Given the description of an element on the screen output the (x, y) to click on. 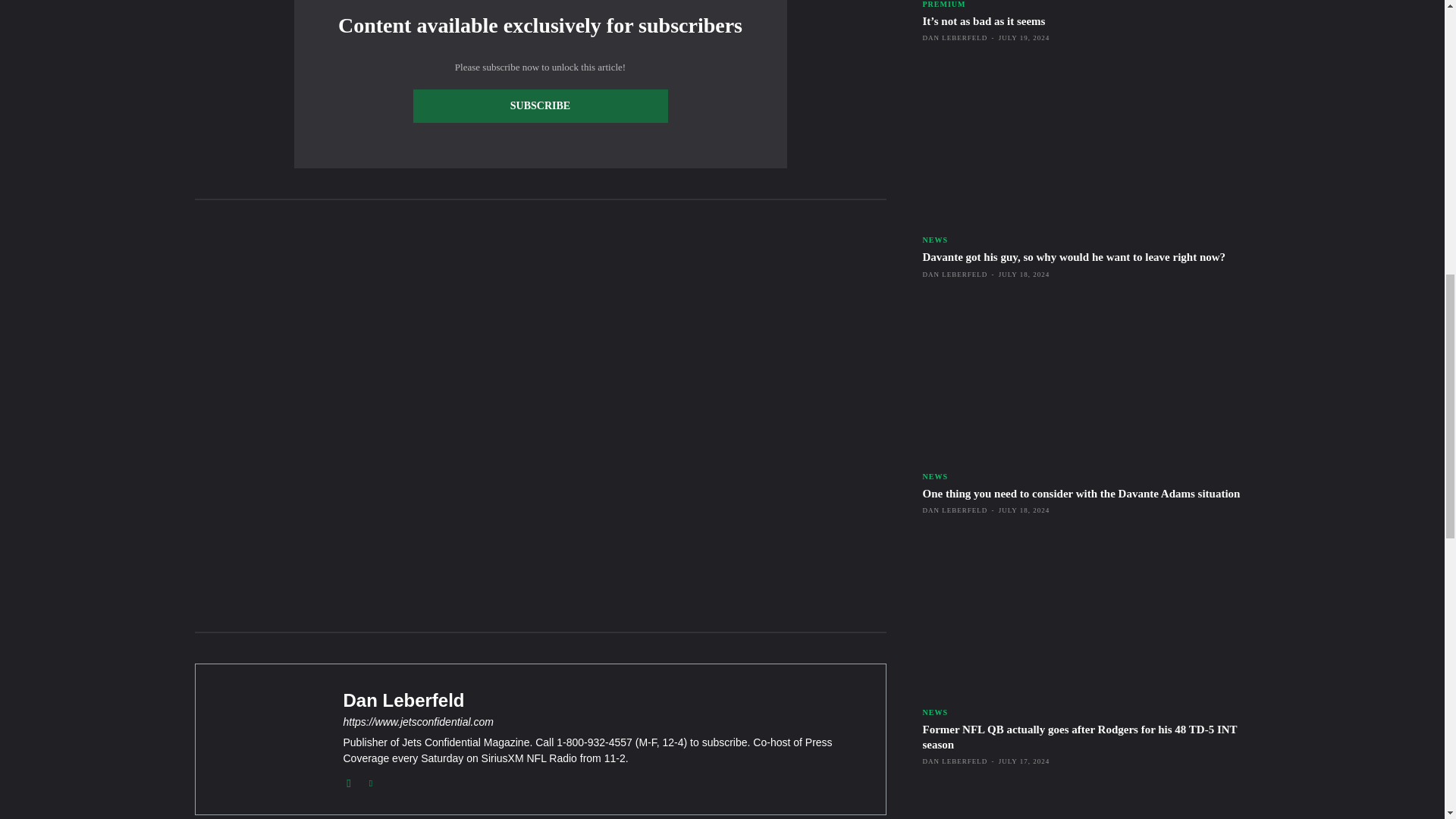
Facebook (347, 780)
Twitter (371, 780)
Dan Leberfeld (265, 739)
SUBSCRIBE (539, 105)
Dan Leberfeld (601, 700)
